Given the description of an element on the screen output the (x, y) to click on. 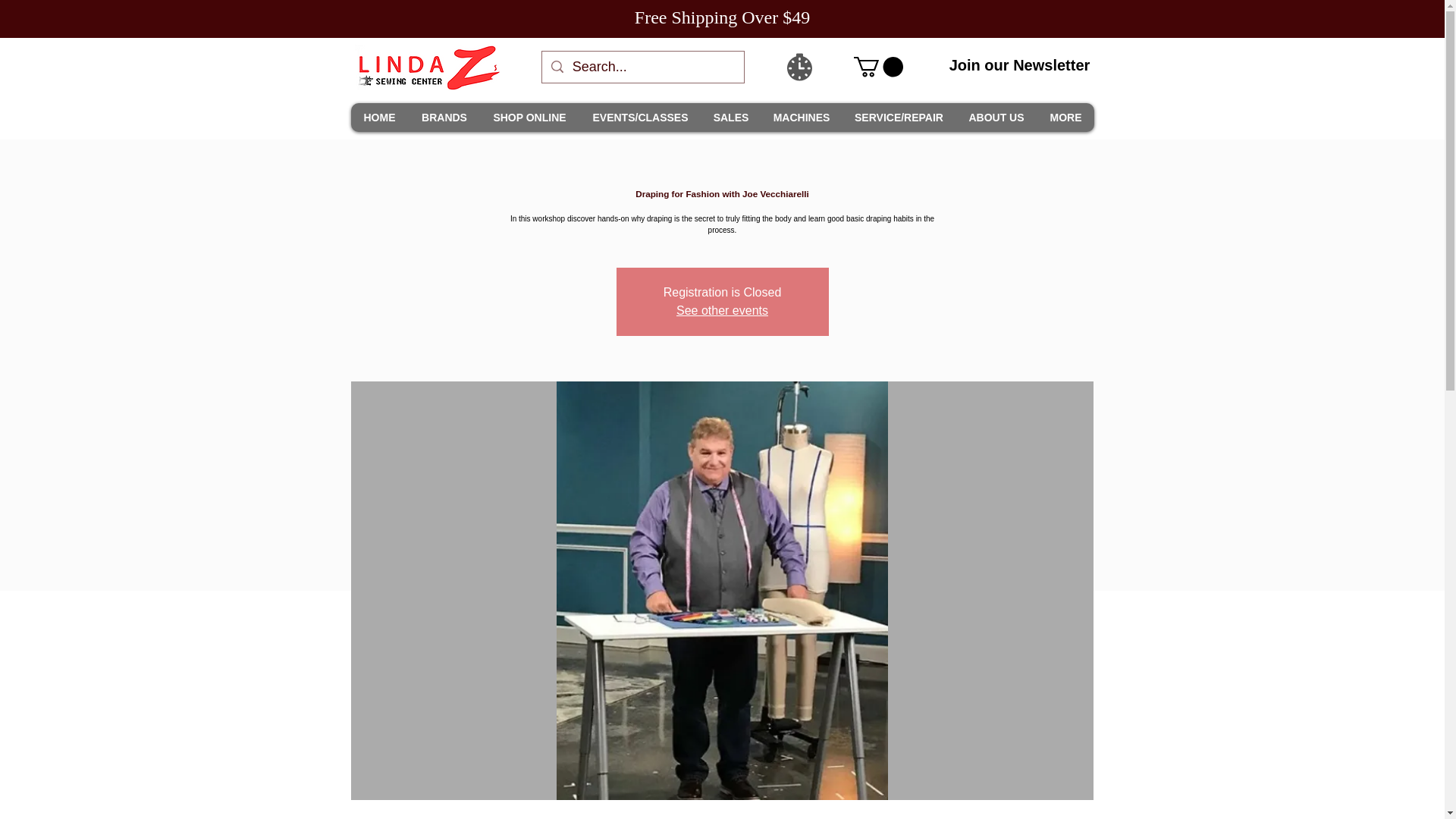
ABOUT US (995, 117)
Join our Newsletter (1019, 64)
HOME (378, 117)
See other events (722, 309)
Go back home (427, 67)
